Given the description of an element on the screen output the (x, y) to click on. 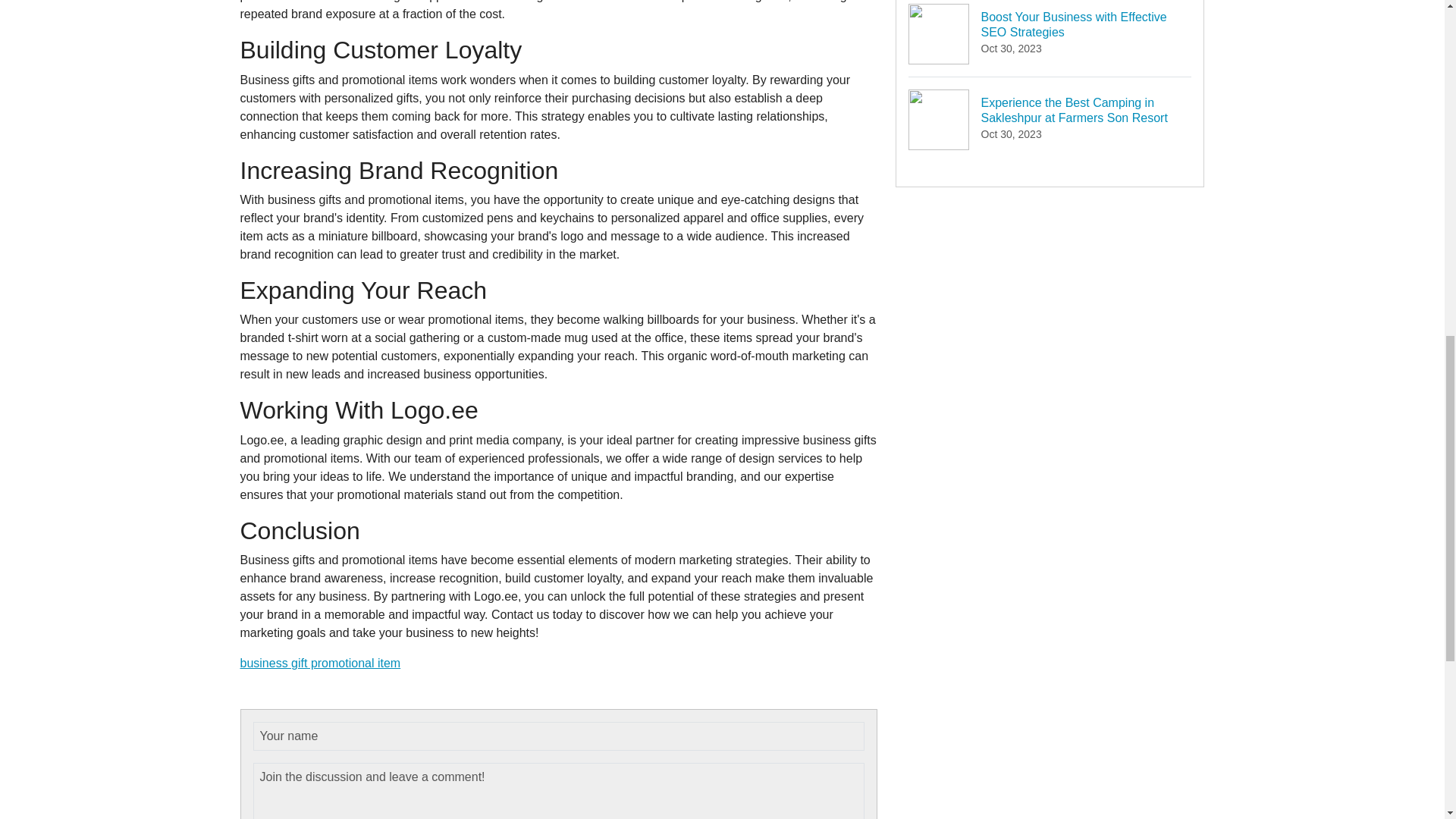
business gift promotional item (320, 662)
